Given the description of an element on the screen output the (x, y) to click on. 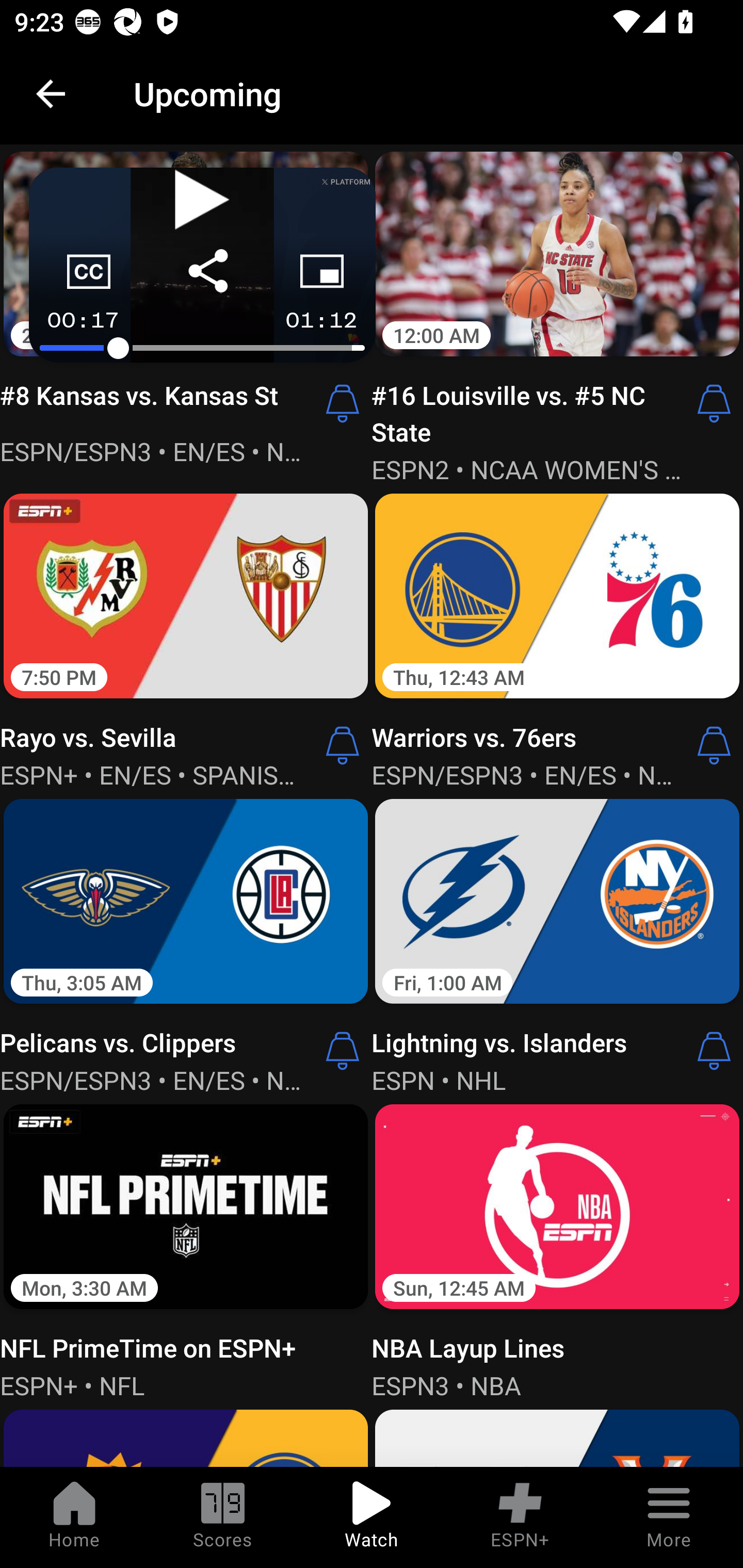
Alerts (342, 403)
Alerts (714, 403)
Alerts (342, 745)
Alerts (714, 745)
Alerts (342, 1050)
Alerts (714, 1050)
Mon, 3:30 AM NFL PrimeTime on ESPN+ ESPN+ • NFL (185, 1249)
Sun, 12:45 AM NBA Layup Lines ESPN3 • NBA (557, 1249)
Home (74, 1517)
Scores (222, 1517)
ESPN+ (519, 1517)
More (668, 1517)
